Given the description of an element on the screen output the (x, y) to click on. 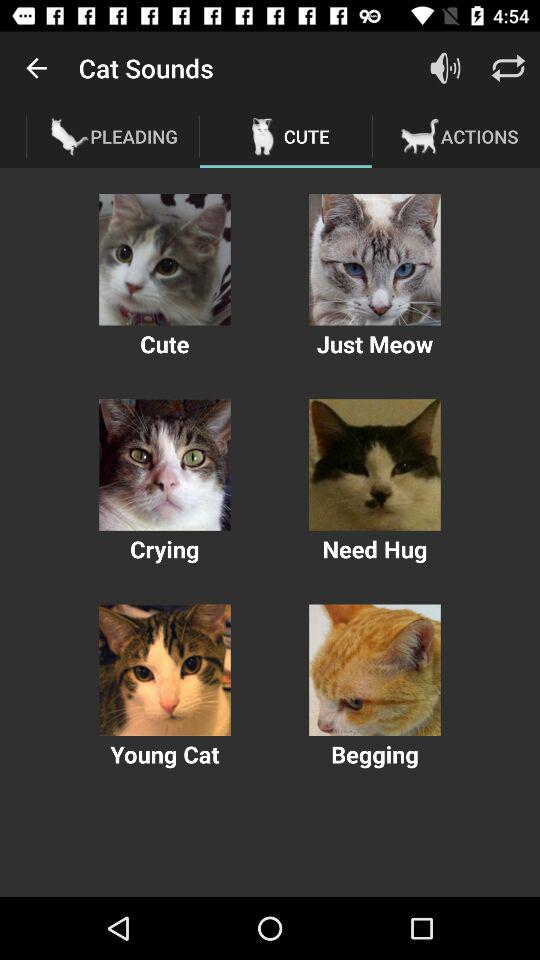
photo of cat with lengenda cute (164, 259)
